Given the description of an element on the screen output the (x, y) to click on. 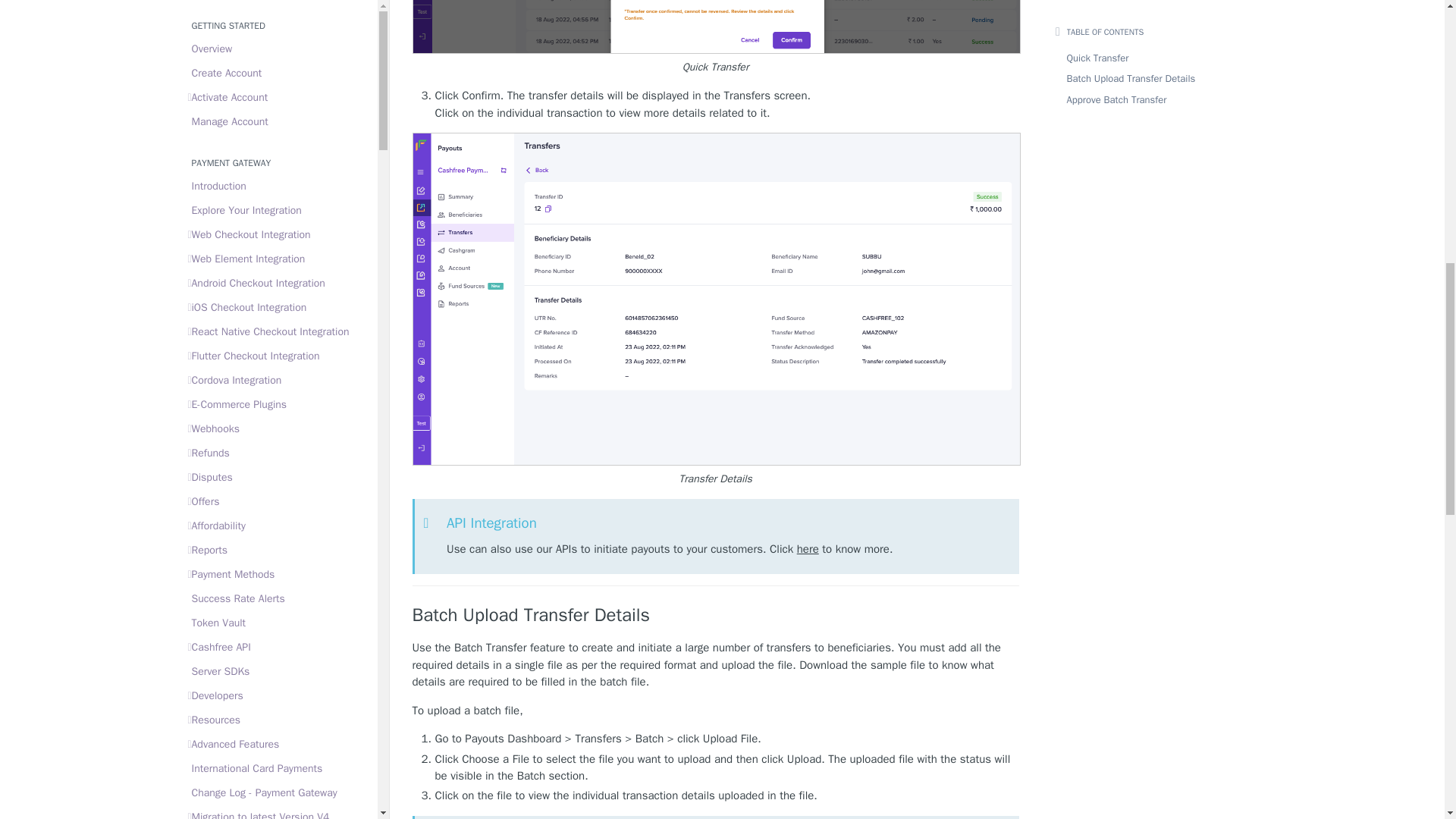
Batch Upload Transfer Details (715, 615)
Screenshot 2022-08-23 at 2.09.27 PM.png (716, 27)
